Given the description of an element on the screen output the (x, y) to click on. 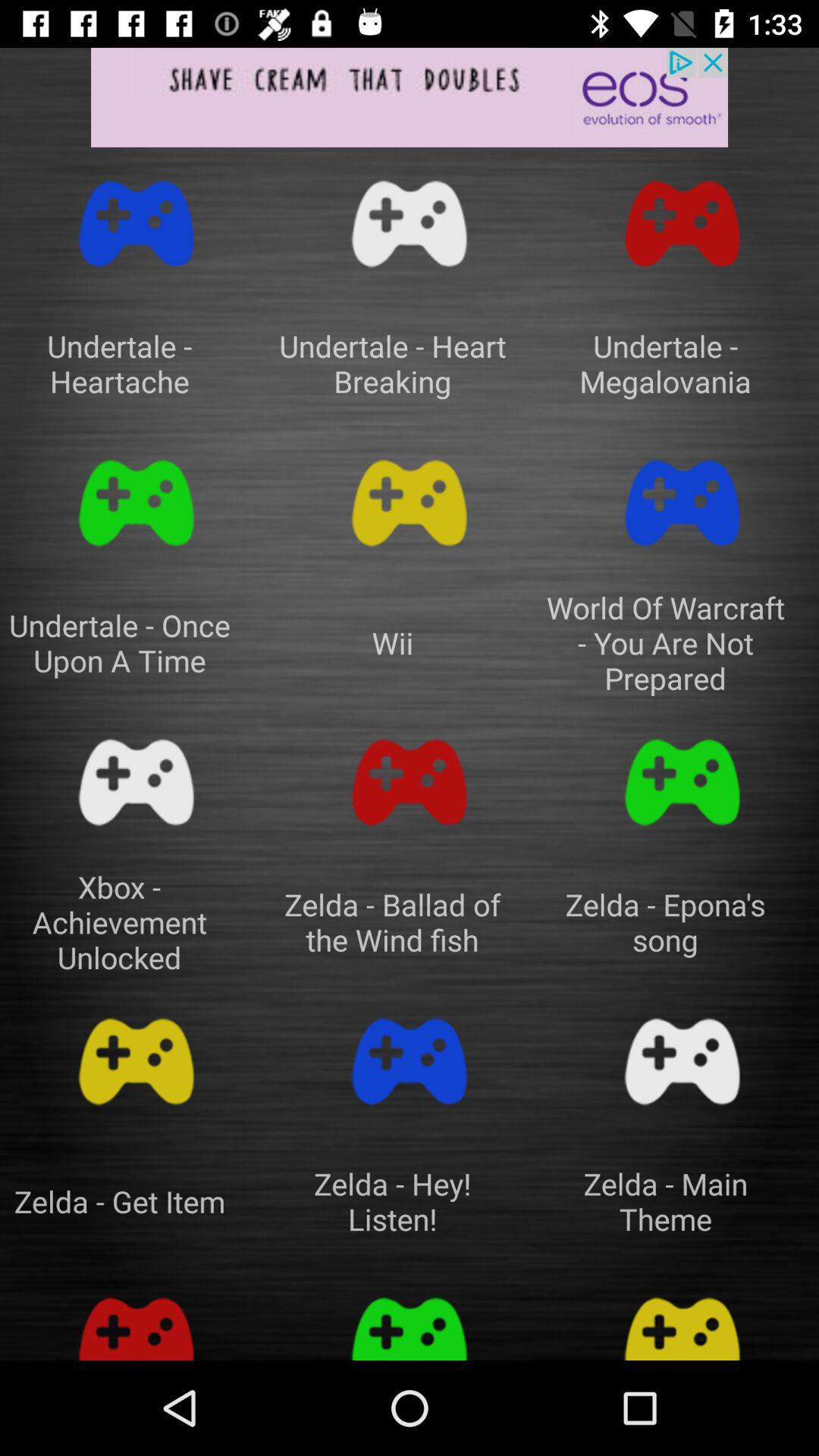
go to play game (682, 503)
